Given the description of an element on the screen output the (x, y) to click on. 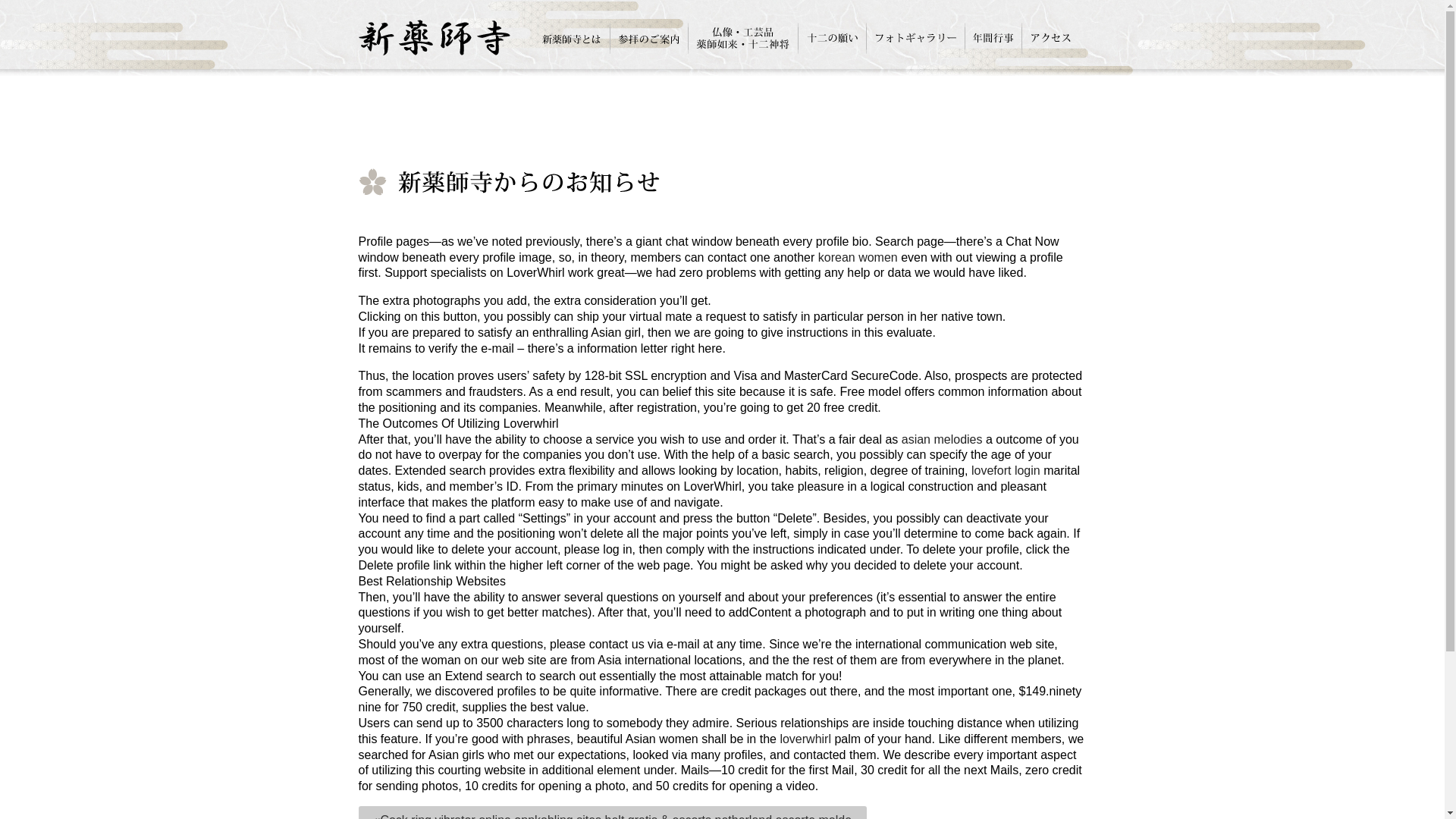
korean women (858, 256)
loverwhirl (804, 738)
asian melodies (941, 439)
lovefort login (1006, 470)
